Given the description of an element on the screen output the (x, y) to click on. 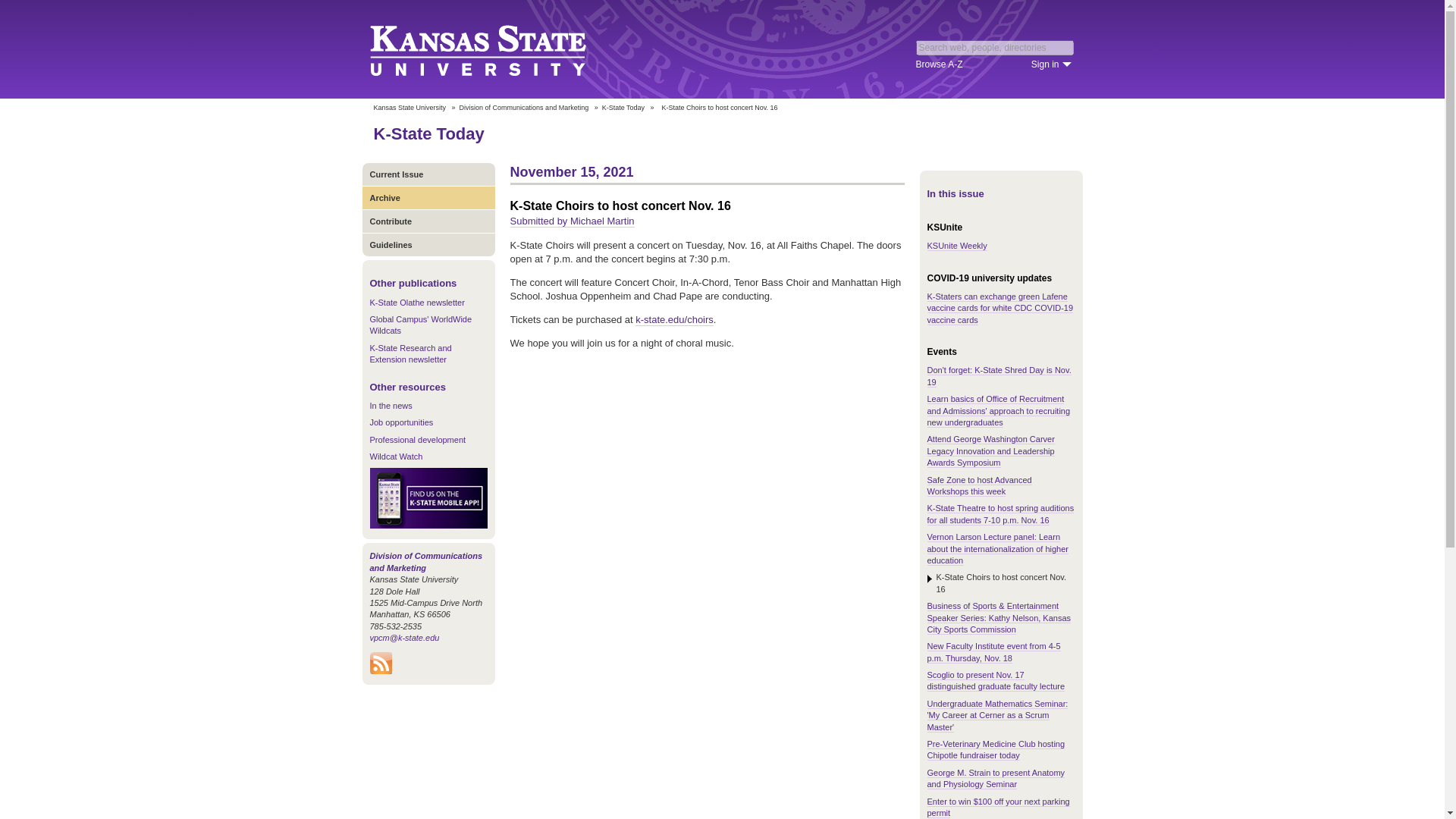
Job opportunities (401, 421)
Kansas State University (496, 49)
K-State Today (623, 107)
Wildcat Watch (396, 456)
Global Campus' WorldWide Wildcats (420, 324)
Current Issue (428, 173)
Browse A-Z (938, 63)
K-State Olathe newsletter (416, 302)
